Given the description of an element on the screen output the (x, y) to click on. 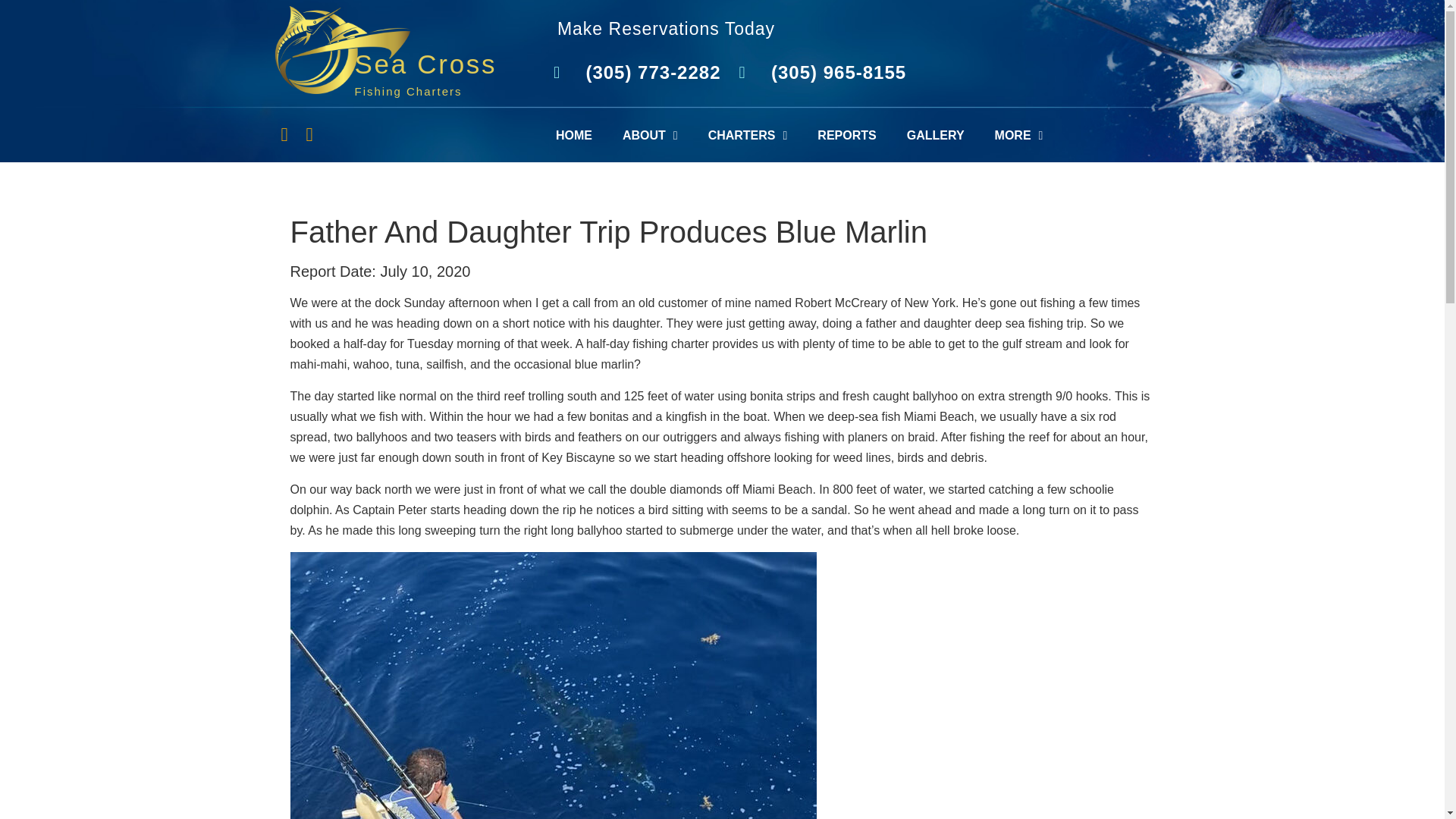
REPORTS (846, 135)
CHARTERS (748, 135)
MORE (1018, 135)
GALLERY (935, 135)
ABOUT (650, 135)
HOME (573, 135)
